Given the description of an element on the screen output the (x, y) to click on. 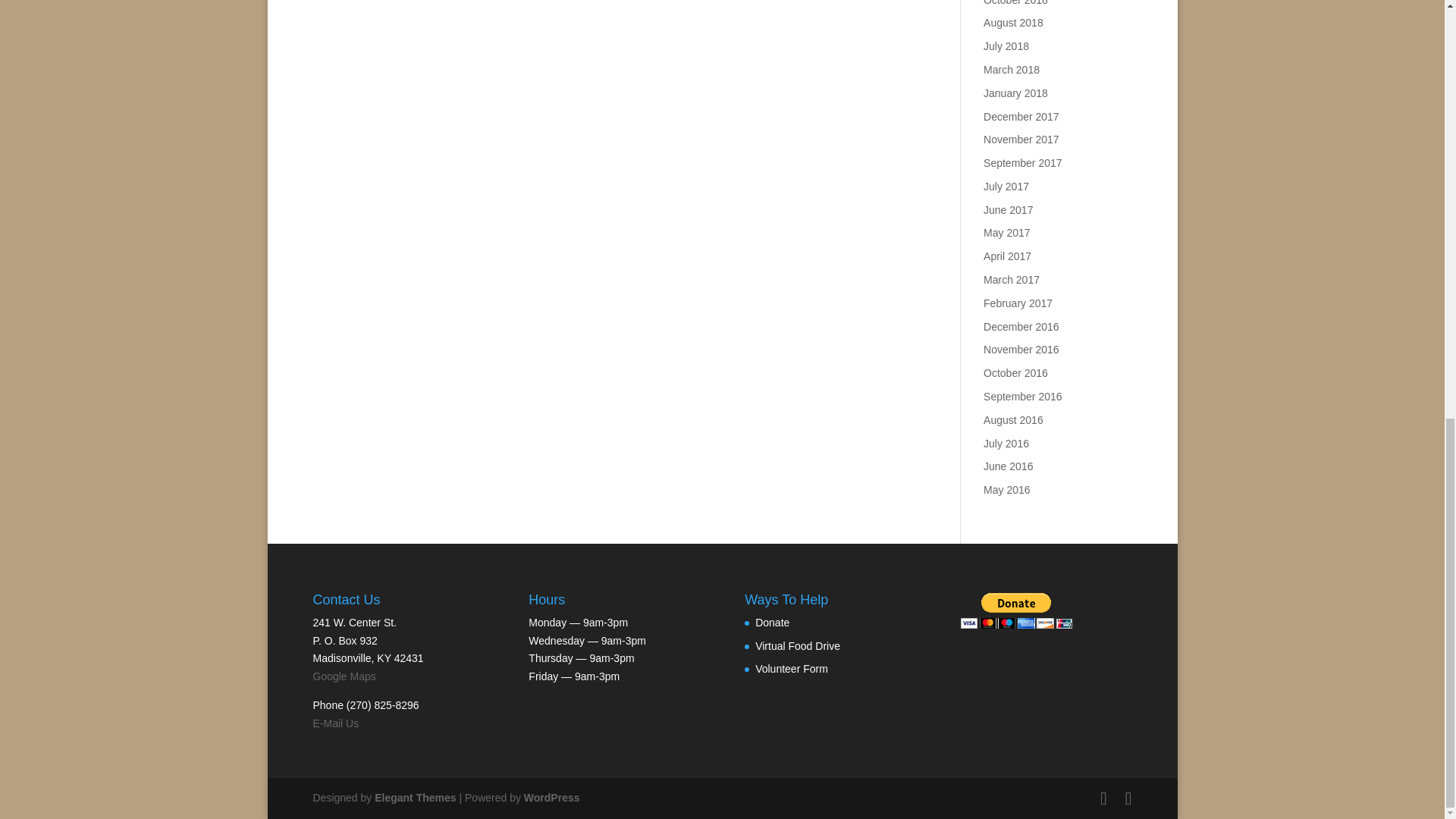
Premium WordPress Themes (414, 797)
